Given the description of an element on the screen output the (x, y) to click on. 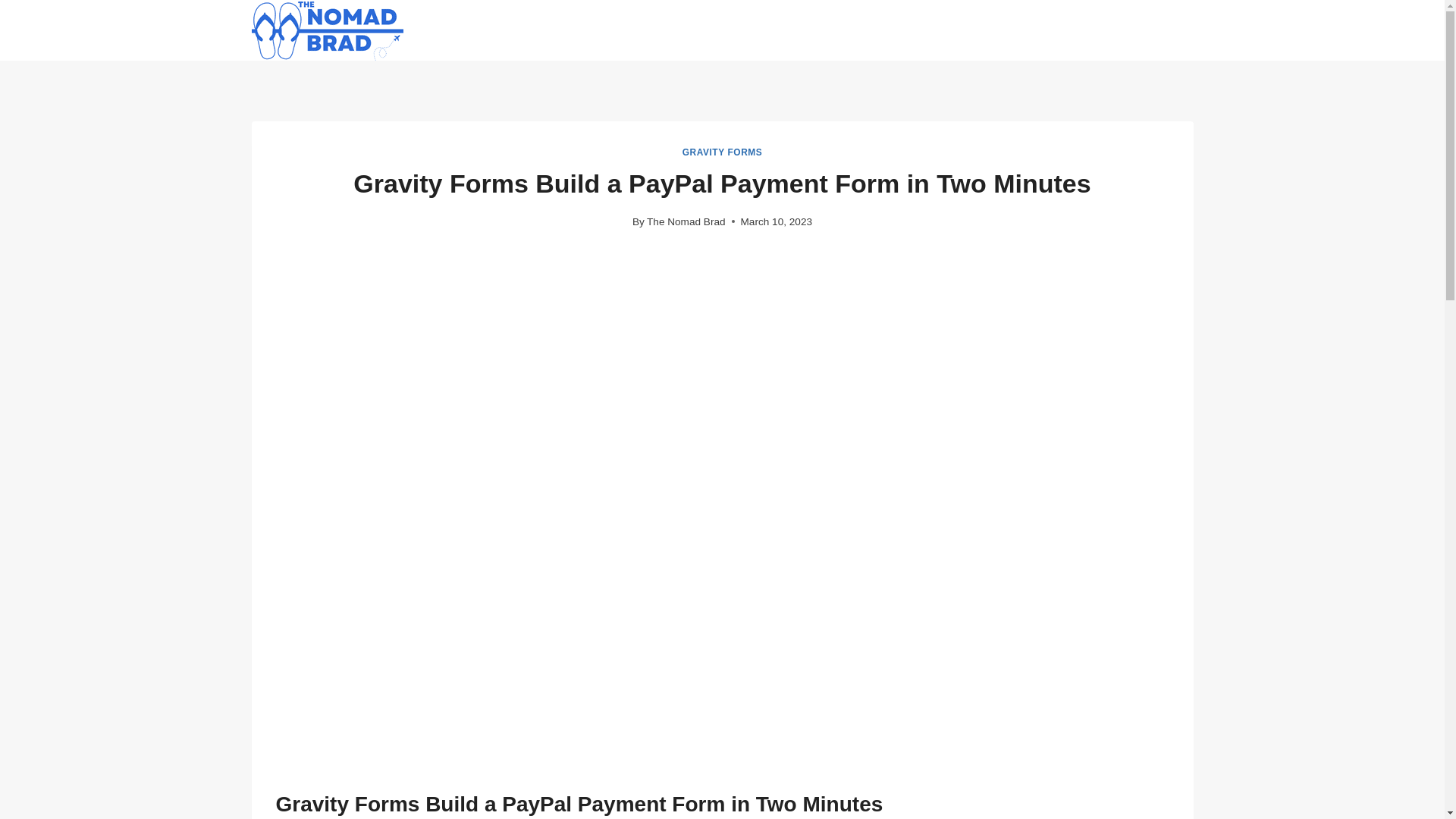
The Nomad Brad (685, 221)
GRAVITY FORMS (722, 152)
